Given the description of an element on the screen output the (x, y) to click on. 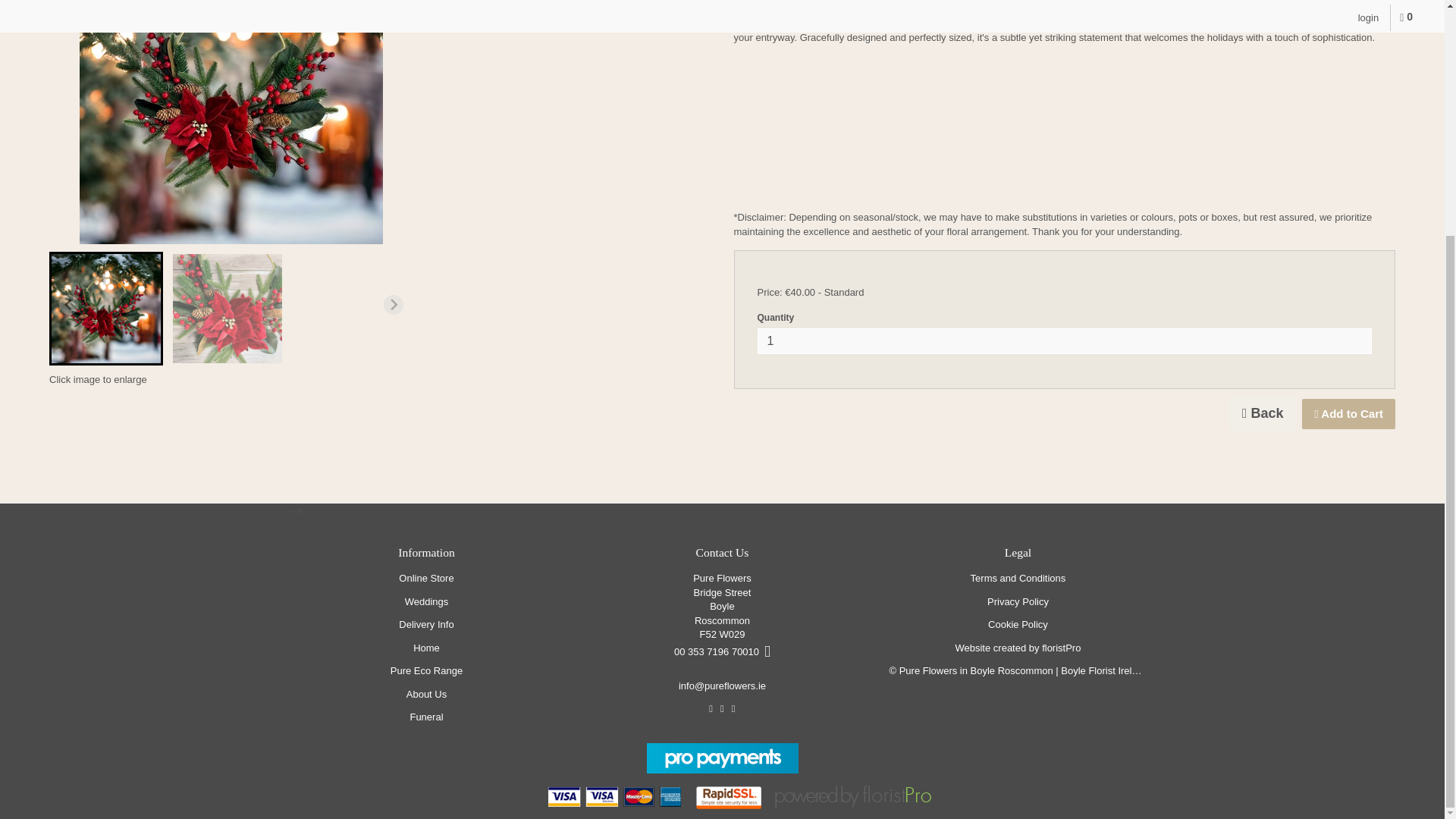
1 (1064, 340)
